Given the description of an element on the screen output the (x, y) to click on. 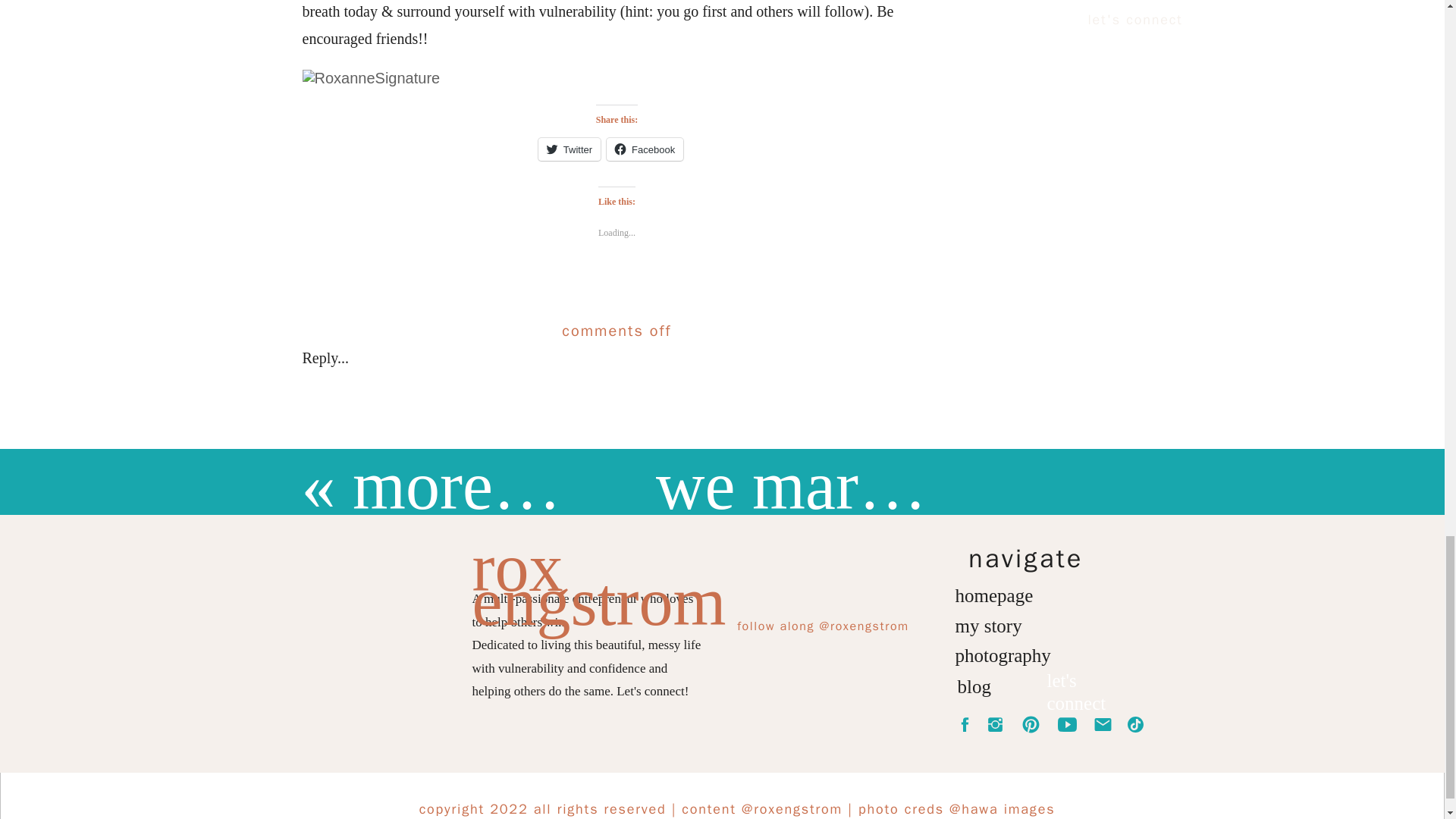
Facebook (644, 149)
Twitter (568, 149)
we mark things that matter (1021, 485)
Click to share on Twitter (568, 149)
Click to share on Facebook (644, 149)
more of the story behind the cover (822, 485)
